Given the description of an element on the screen output the (x, y) to click on. 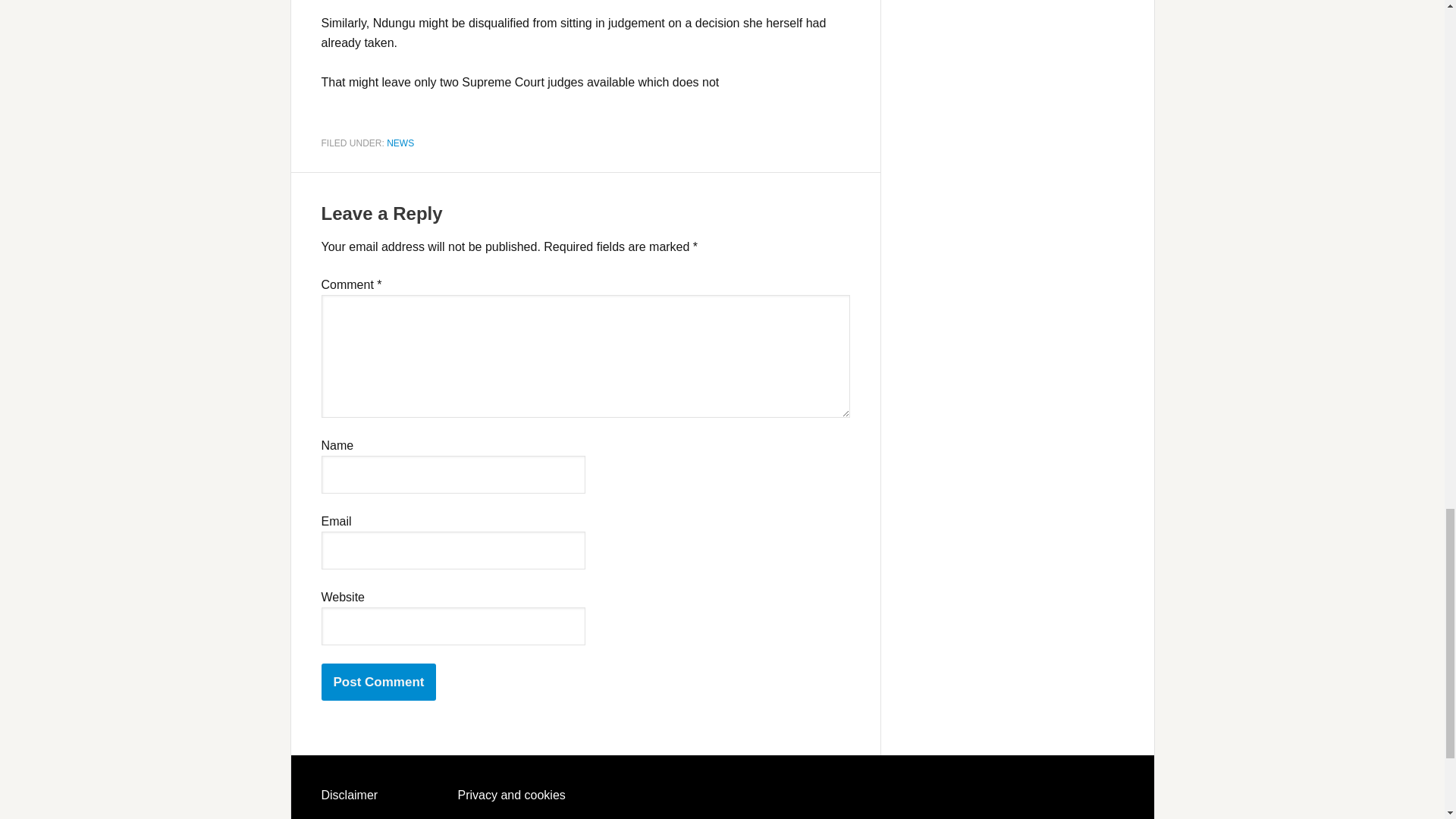
NEWS (400, 143)
Post Comment (378, 682)
Post Comment (378, 682)
